Given the description of an element on the screen output the (x, y) to click on. 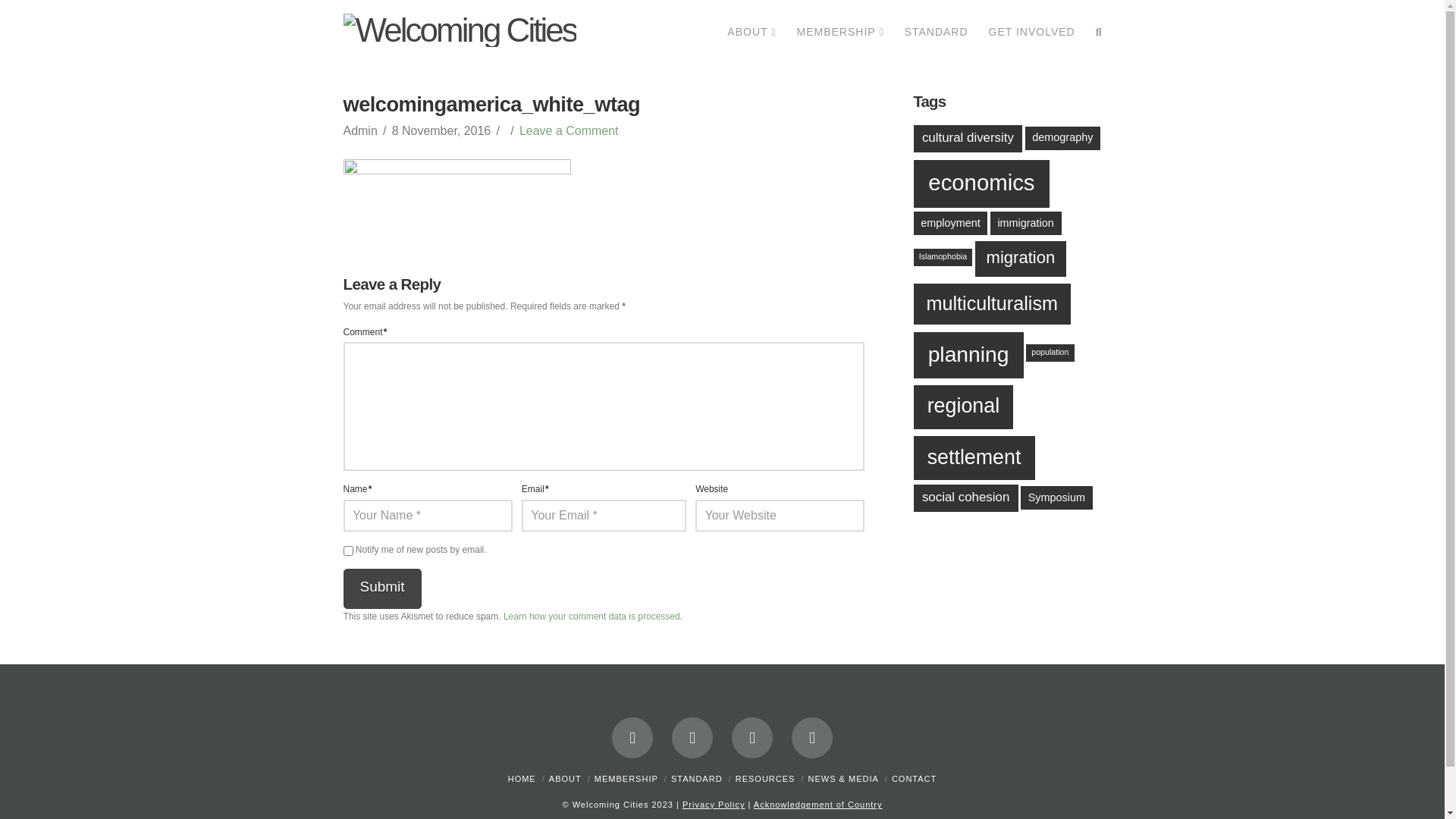
settlement Element type: text (974, 458)
MEMBERSHIP Element type: text (840, 34)
immigration Element type: text (1025, 223)
regional Element type: text (963, 407)
Twitter Element type: hover (691, 737)
Facebook Element type: hover (631, 737)
Islamophobia Element type: text (942, 257)
MEMBERSHIP Element type: text (626, 778)
demography Element type: text (1062, 138)
STANDARD Element type: text (936, 34)
LinkedIn Element type: hover (751, 737)
RESOURCES Element type: text (765, 778)
cultural diversity Element type: text (967, 138)
HOME Element type: text (522, 778)
multiculturalism Element type: text (991, 303)
employment Element type: text (950, 223)
Vimeo Element type: hover (811, 737)
Submit Element type: text (381, 588)
planning Element type: text (968, 355)
Symposium Element type: text (1056, 497)
population Element type: text (1050, 352)
ABOUT Element type: text (750, 34)
Leave a Comment Element type: text (568, 130)
Privacy Policy Element type: text (713, 804)
Learn how your comment data is processed Element type: text (591, 616)
STANDARD Element type: text (696, 778)
CONTACT Element type: text (913, 778)
social cohesion Element type: text (965, 497)
migration Element type: text (1020, 258)
GET INVOLVED Element type: text (1031, 34)
Acknowledgement of Country Element type: text (817, 804)
NEWS & MEDIA Element type: text (843, 778)
ABOUT Element type: text (565, 778)
economics Element type: text (981, 183)
